Given the description of an element on the screen output the (x, y) to click on. 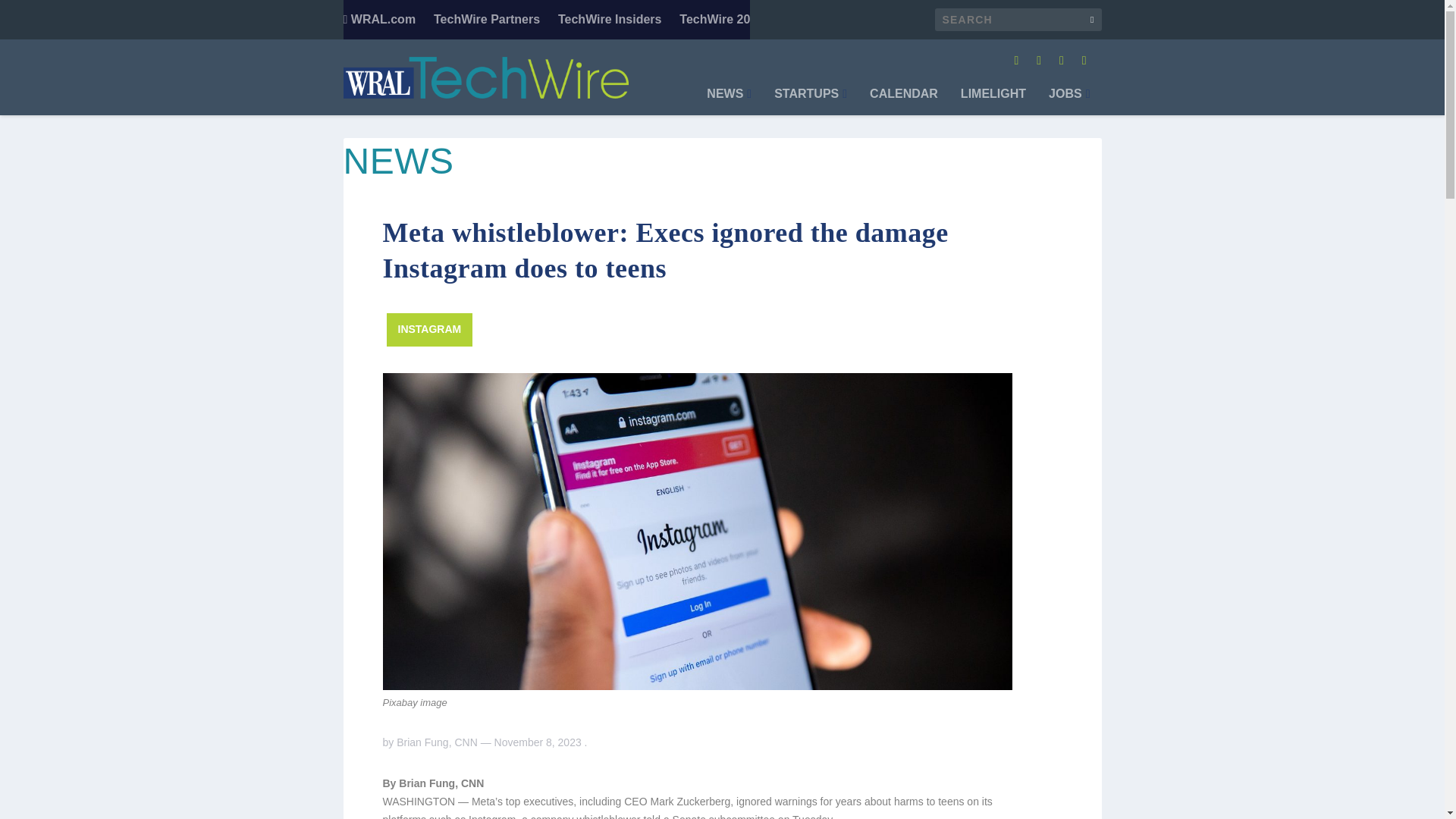
JOBS (1068, 101)
WRAL.com (378, 19)
STARTUPS (810, 101)
LIMELIGHT (993, 101)
TechWire Insiders (609, 19)
NEWS (728, 101)
TechWire Partners (486, 19)
Search for: (1017, 19)
TechWire 20 (714, 19)
CALENDAR (903, 101)
